Given the description of an element on the screen output the (x, y) to click on. 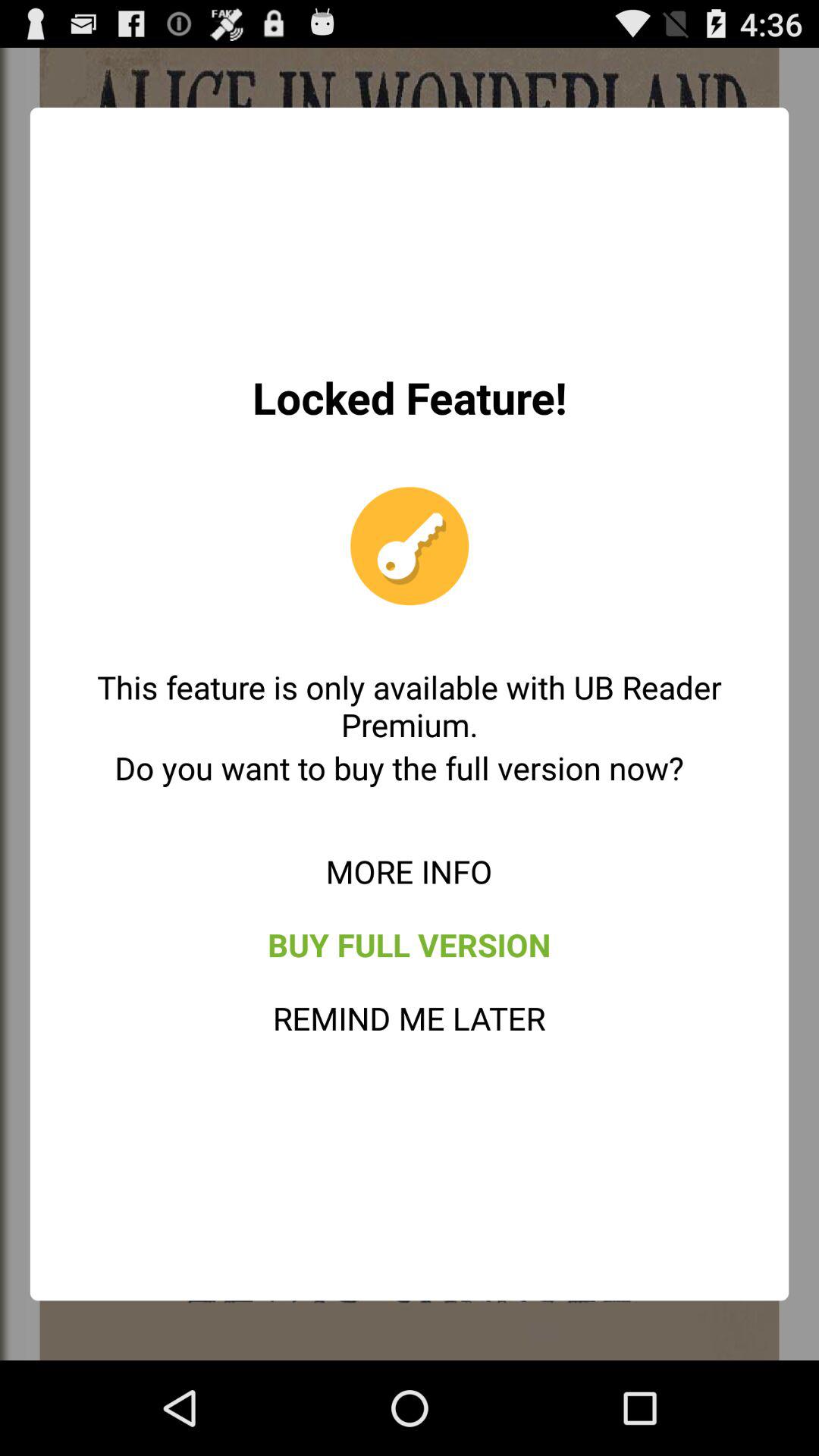
tap the app below buy full version (409, 1017)
